Given the description of an element on the screen output the (x, y) to click on. 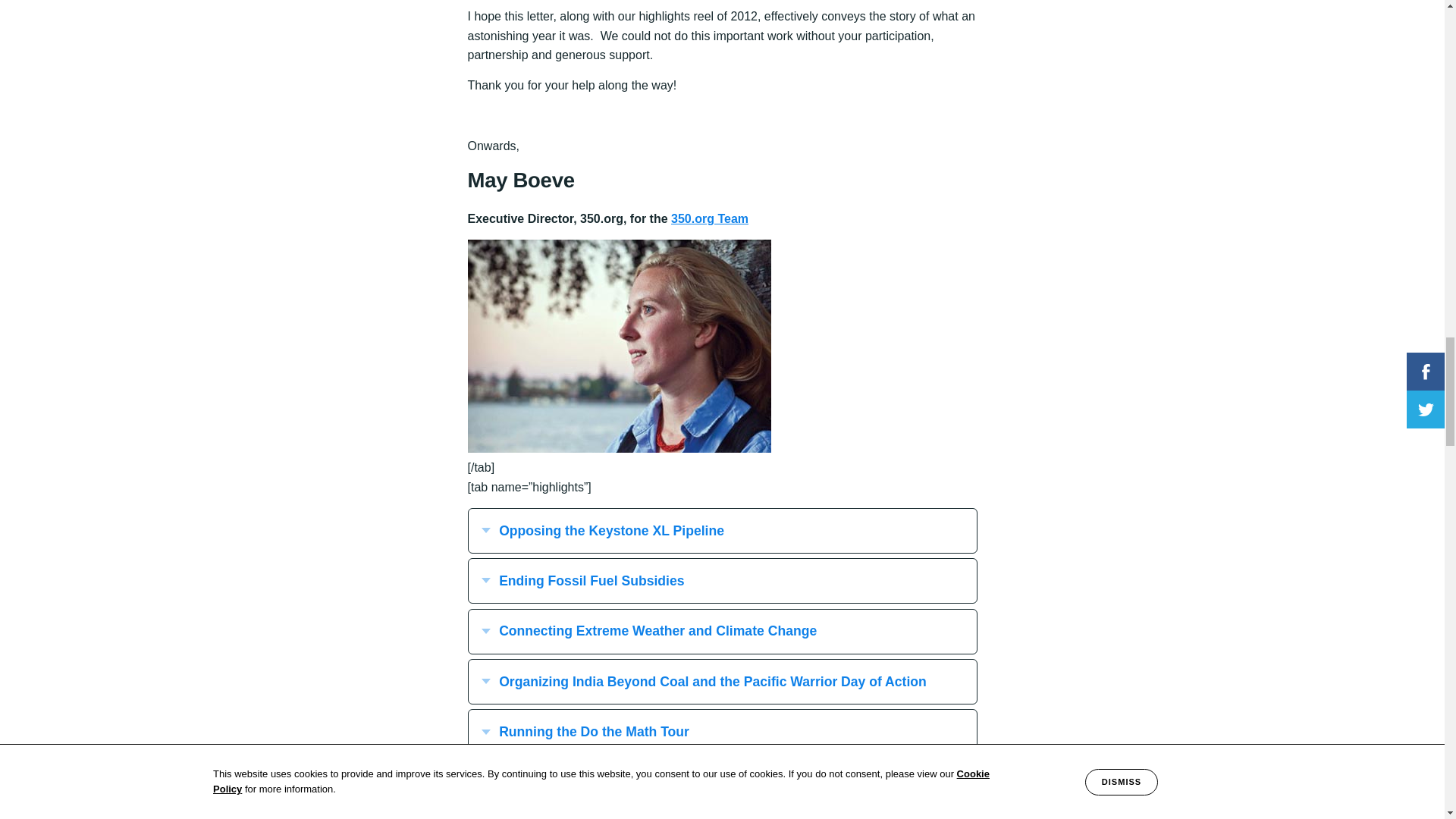
Ending Fossil Fuel Subsidies (721, 580)
Training New Leaders (721, 782)
350.org Team (709, 218)
Connecting Extreme Weather and Climate Change (722, 631)
Running the Do the Math Tour (721, 731)
Connecting Extreme Weather and Climate Change (721, 631)
Opposing the Keystone XL Pipeline (722, 530)
Opposing the Keystone XL Pipeline (721, 530)
Ending Fossil Fuel Subsidies (722, 580)
